Given the description of an element on the screen output the (x, y) to click on. 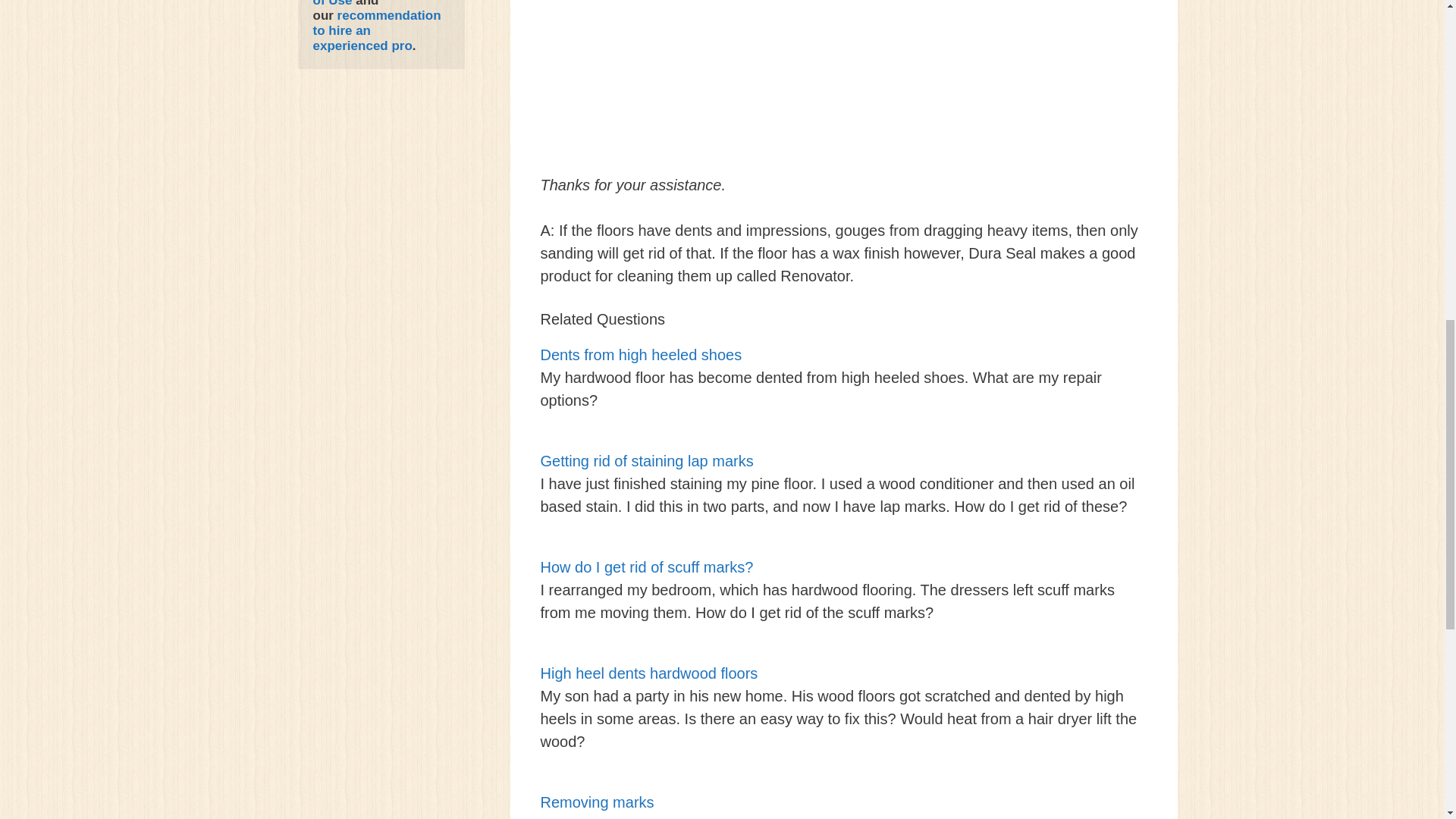
Advertisement (843, 97)
Scroll back to top (1406, 720)
